Given the description of an element on the screen output the (x, y) to click on. 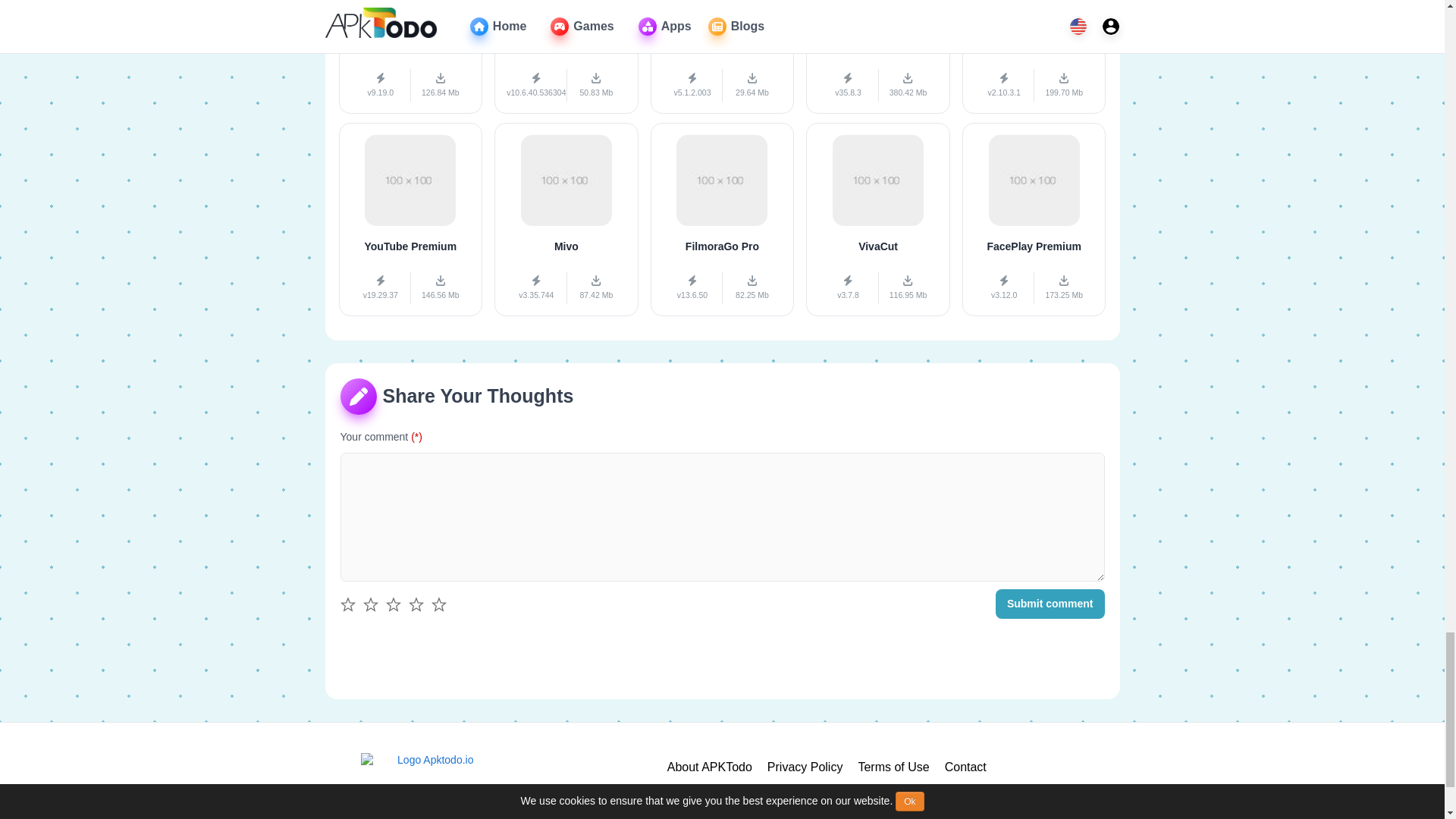
About APKTodo (709, 767)
FilmoraGo Pro (722, 219)
Terms of Use (892, 767)
Zoomerang (1034, 57)
Privacy Policy (805, 767)
Pure Tuber (722, 57)
YouTube Premium (409, 219)
FacePlay Premium (1034, 219)
VivaVideo Pro (409, 57)
TikTok (878, 57)
Mivo (567, 219)
VivaCut (878, 219)
Contact (965, 767)
Snack Video (567, 57)
